Given the description of an element on the screen output the (x, y) to click on. 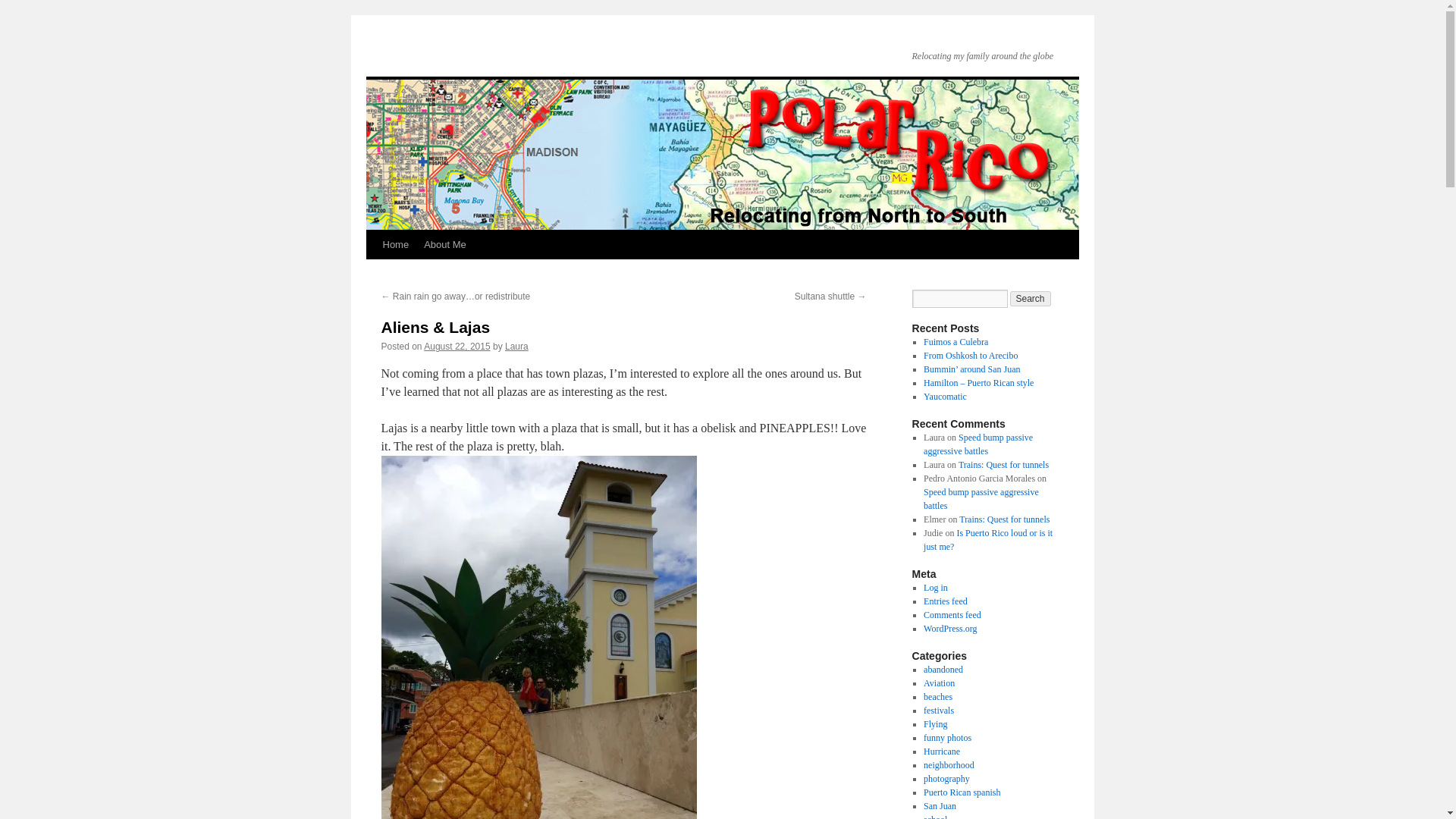
August 22, 2015 (456, 346)
View all posts by Laura (516, 346)
6:53 am (456, 346)
Search (1030, 298)
Fuimos a Culebra (955, 341)
Laura (516, 346)
From Oshkosh to Arecibo (970, 355)
Search (1030, 298)
Home (395, 244)
About Me (445, 244)
